Given the description of an element on the screen output the (x, y) to click on. 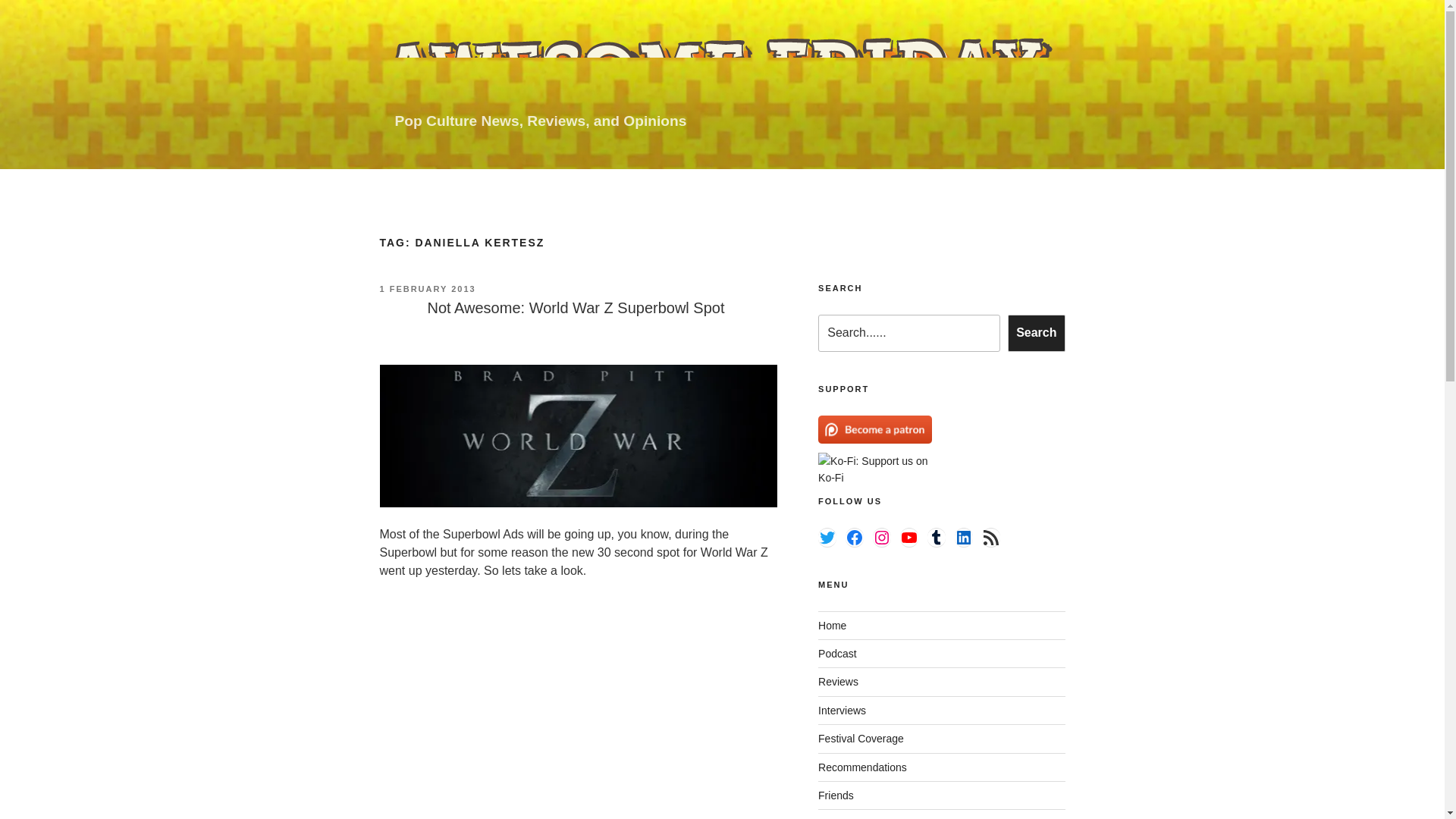
Home (831, 625)
1 FEBRUARY 2013 (427, 288)
RSS Feed (990, 537)
Friends (835, 795)
Search (1035, 332)
Contact (836, 818)
Recommendations (862, 767)
Interviews (842, 710)
YouTube (908, 537)
Tumblr (935, 537)
